Given the description of an element on the screen output the (x, y) to click on. 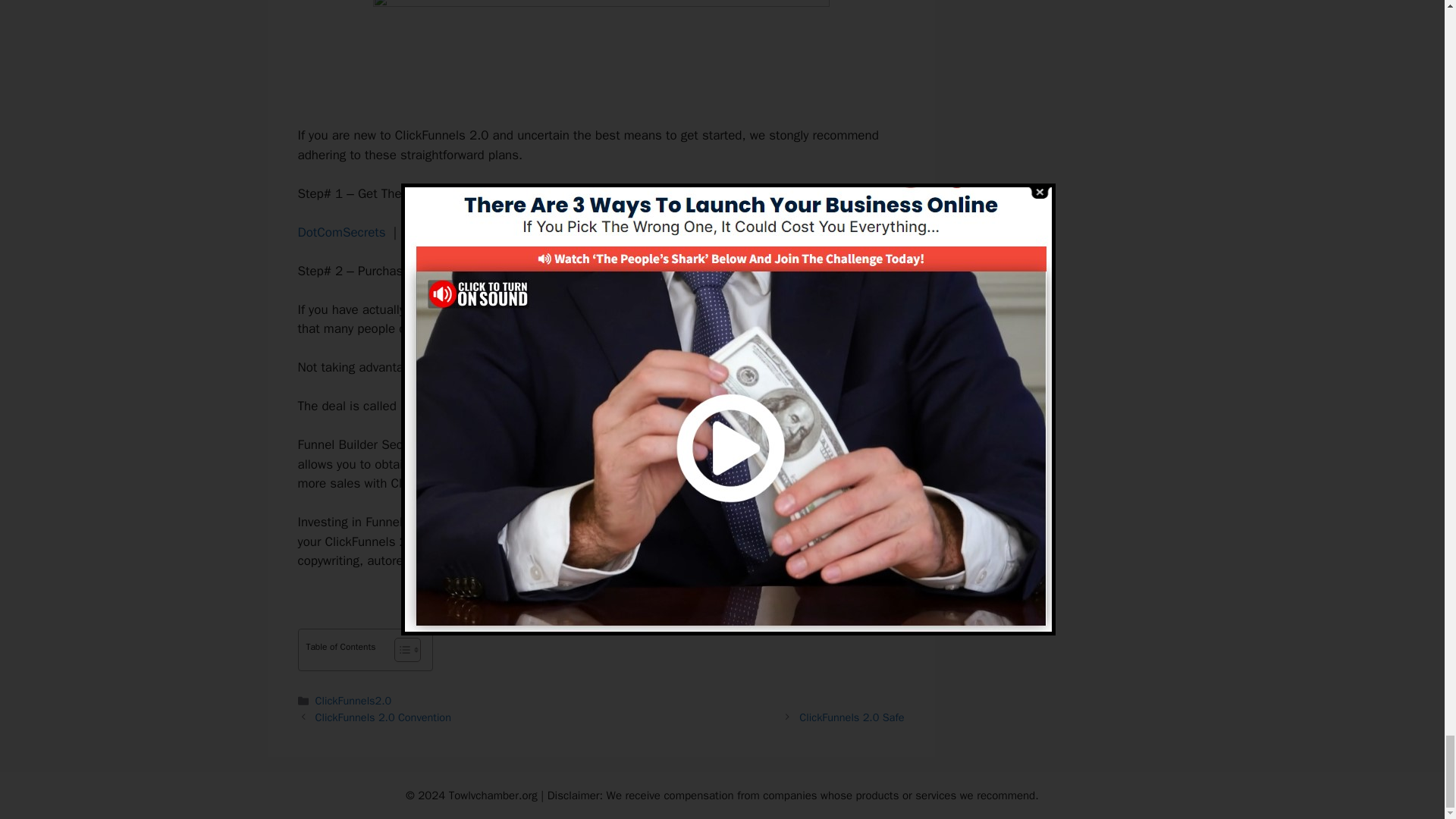
DotComSecrets (341, 232)
Expert Secrets (445, 232)
Funnel Builder Secrets (463, 406)
ClickFunnels 2.0 (542, 309)
Traffic Secrets (545, 232)
